Given the description of an element on the screen output the (x, y) to click on. 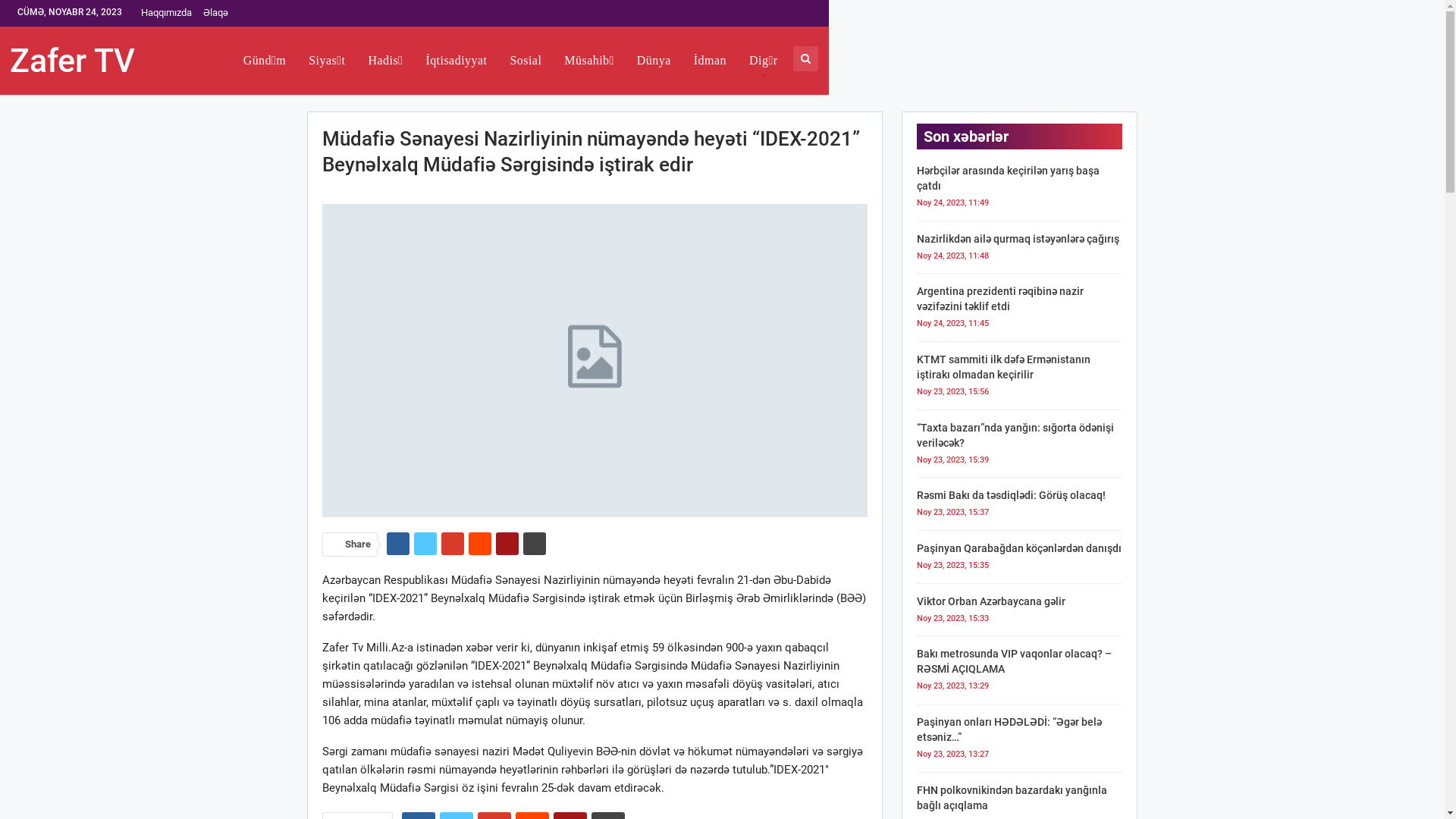
Sosial Element type: text (525, 60)
Zafer TV Element type: text (75, 60)
